Given the description of an element on the screen output the (x, y) to click on. 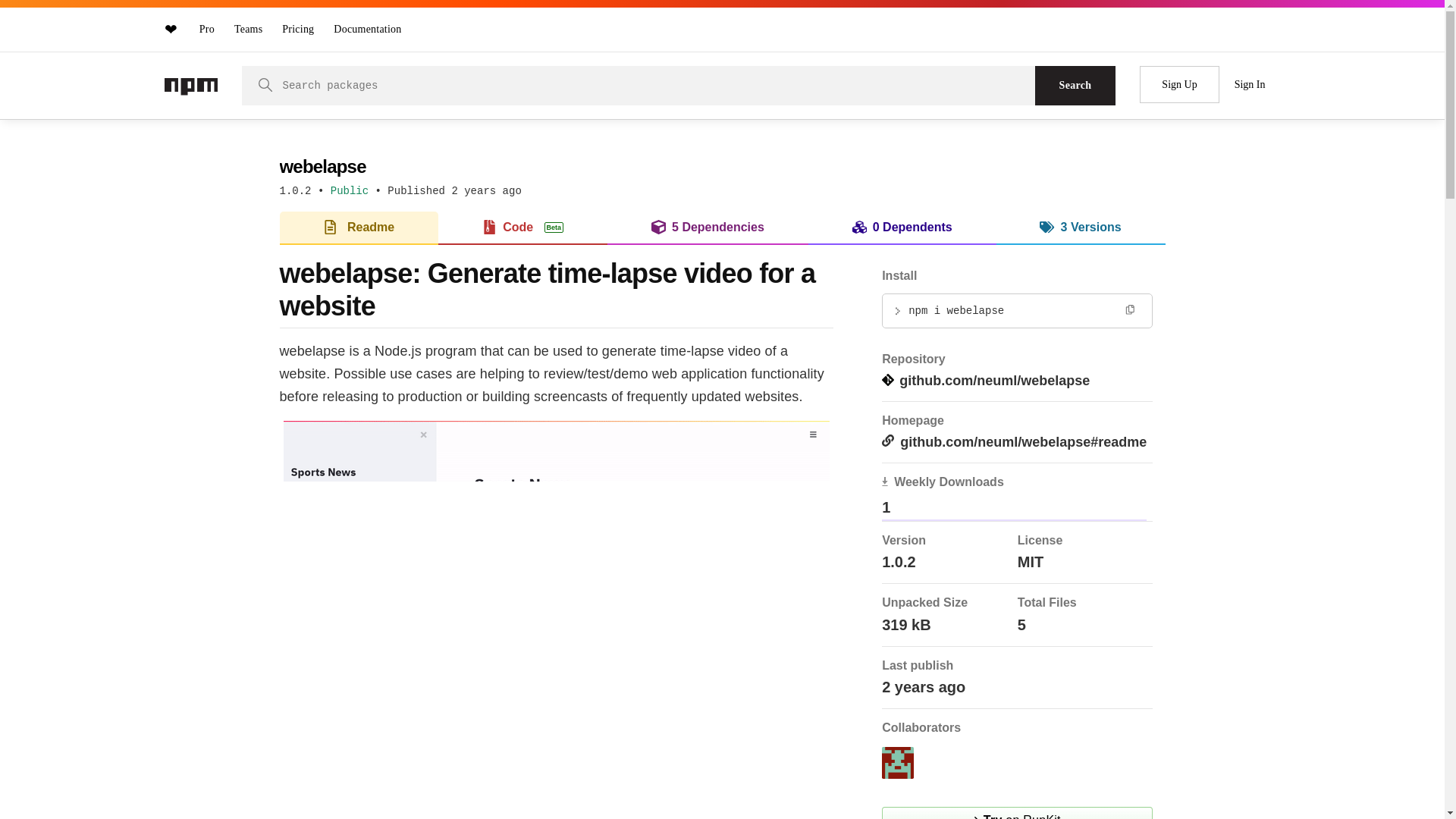
5 Dependencies (707, 227)
3 Versions (1080, 227)
Sign Up (1179, 84)
davidmezzetti (898, 762)
Documentation (367, 29)
Sign In (1249, 84)
Pricing (298, 29)
Search (1075, 85)
Teams (248, 29)
Pro (207, 29)
